Given the description of an element on the screen output the (x, y) to click on. 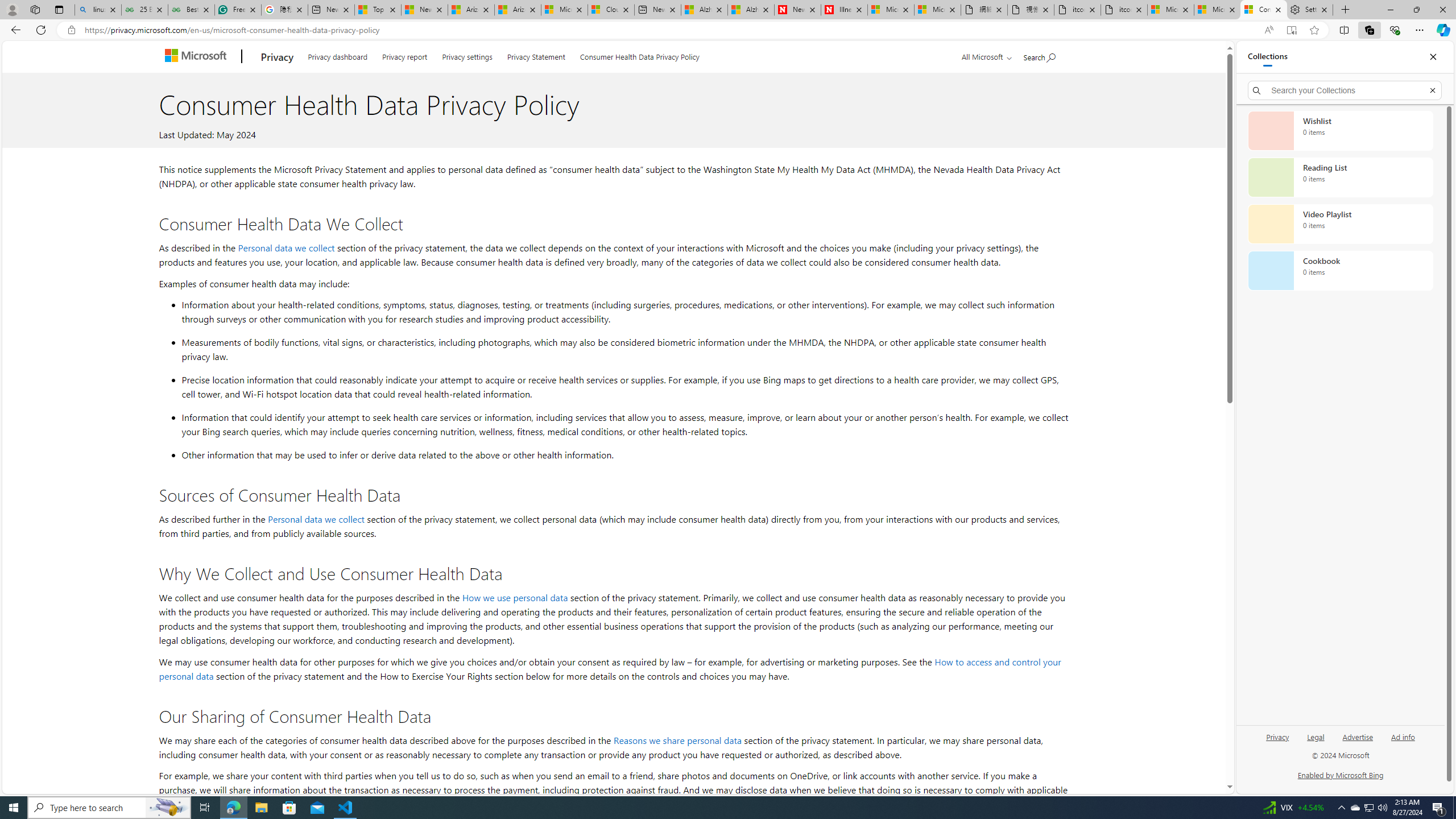
News - MSN (424, 9)
Privacy Statement (535, 54)
